Given the description of an element on the screen output the (x, y) to click on. 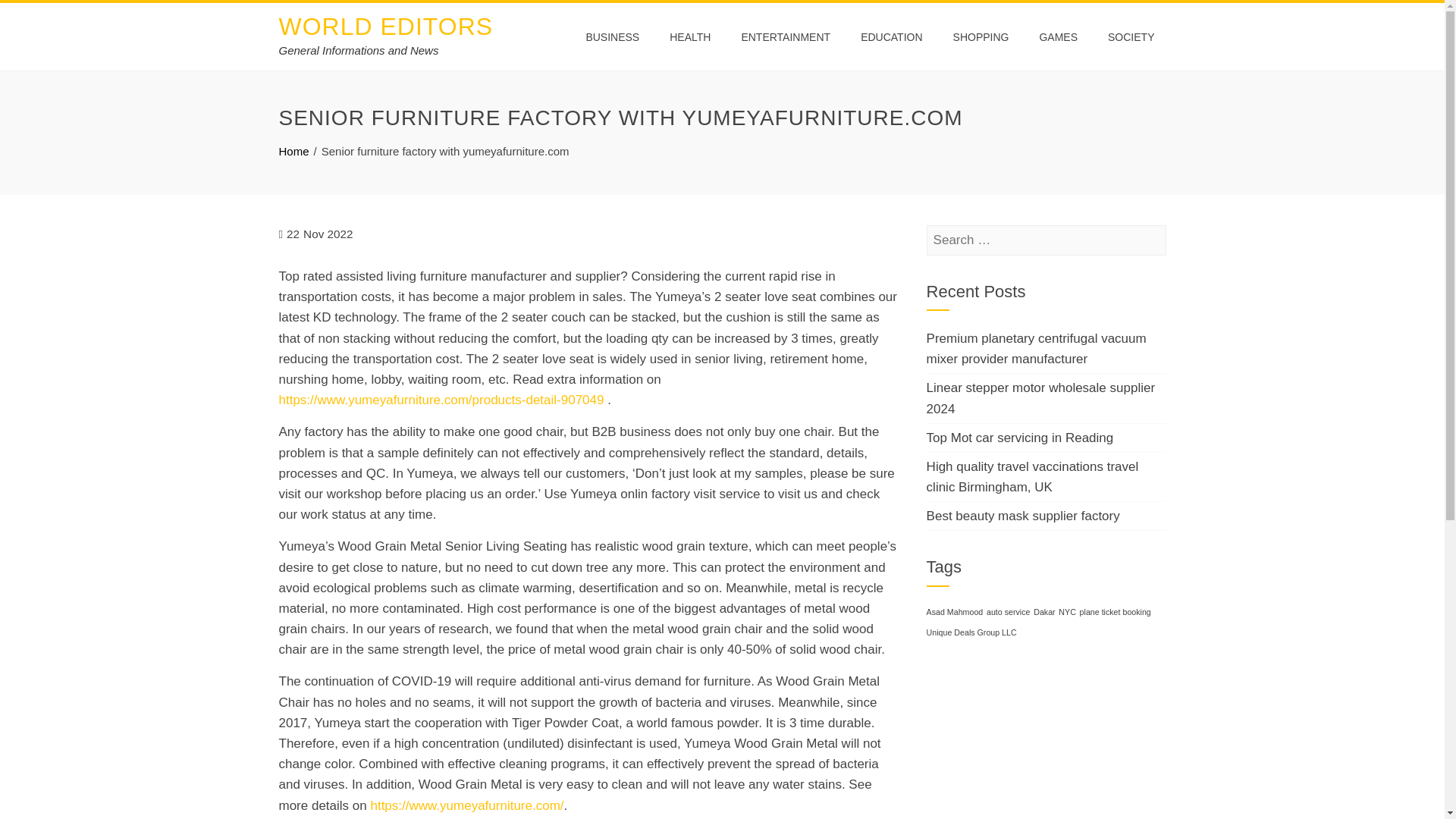
Asad Mahmood (955, 611)
SOCIETY (1131, 36)
Best beauty mask supplier factory (1022, 515)
Linear stepper motor wholesale supplier 2024 (1040, 397)
Top Mot car servicing in Reading (1019, 437)
Search (35, 15)
HEALTH (690, 36)
SHOPPING (981, 36)
Home (293, 151)
EDUCATION (890, 36)
GAMES (1058, 36)
NYC (1066, 611)
auto service (1008, 611)
